Given the description of an element on the screen output the (x, y) to click on. 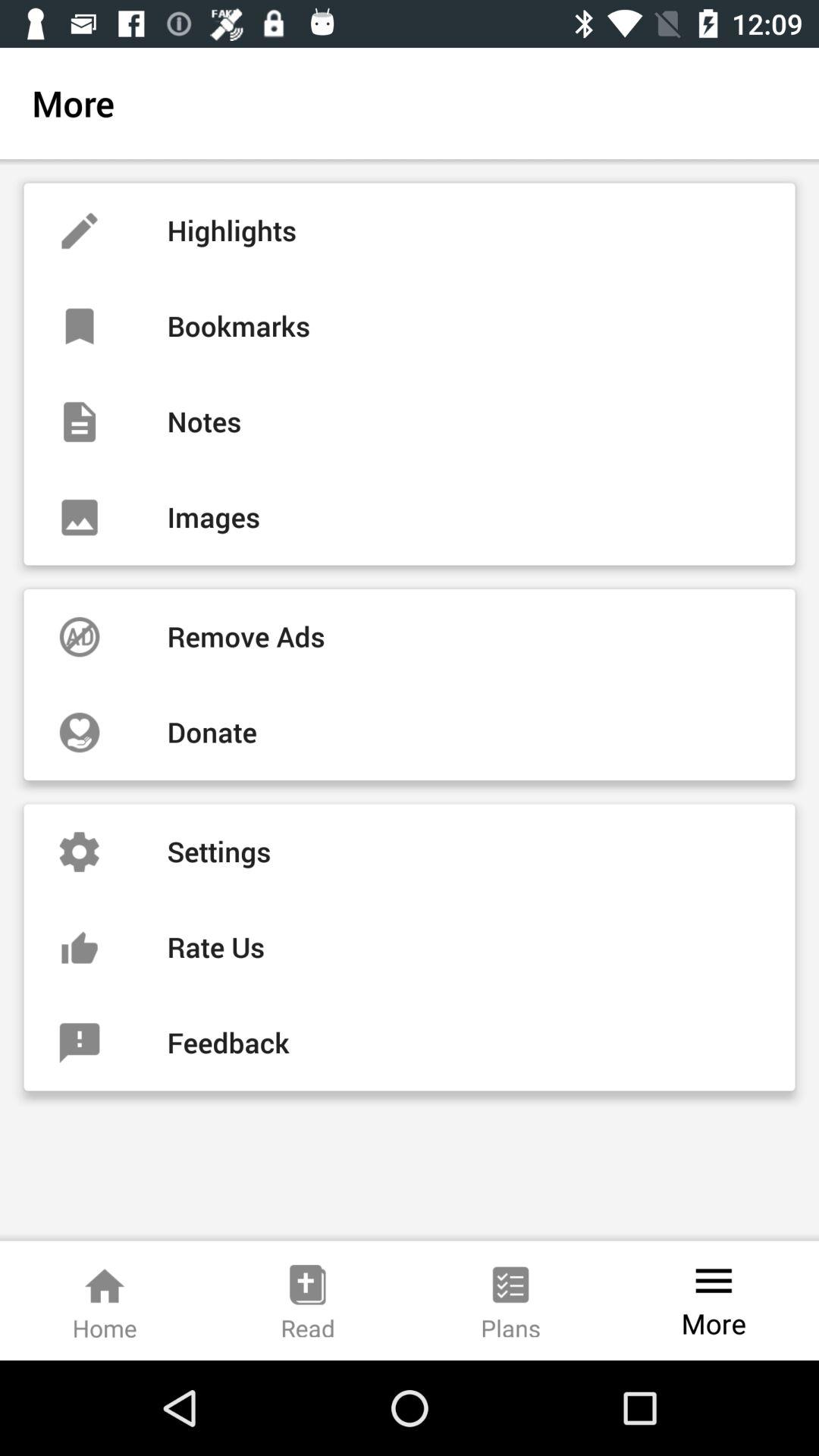
open feedback (409, 1042)
